Given the description of an element on the screen output the (x, y) to click on. 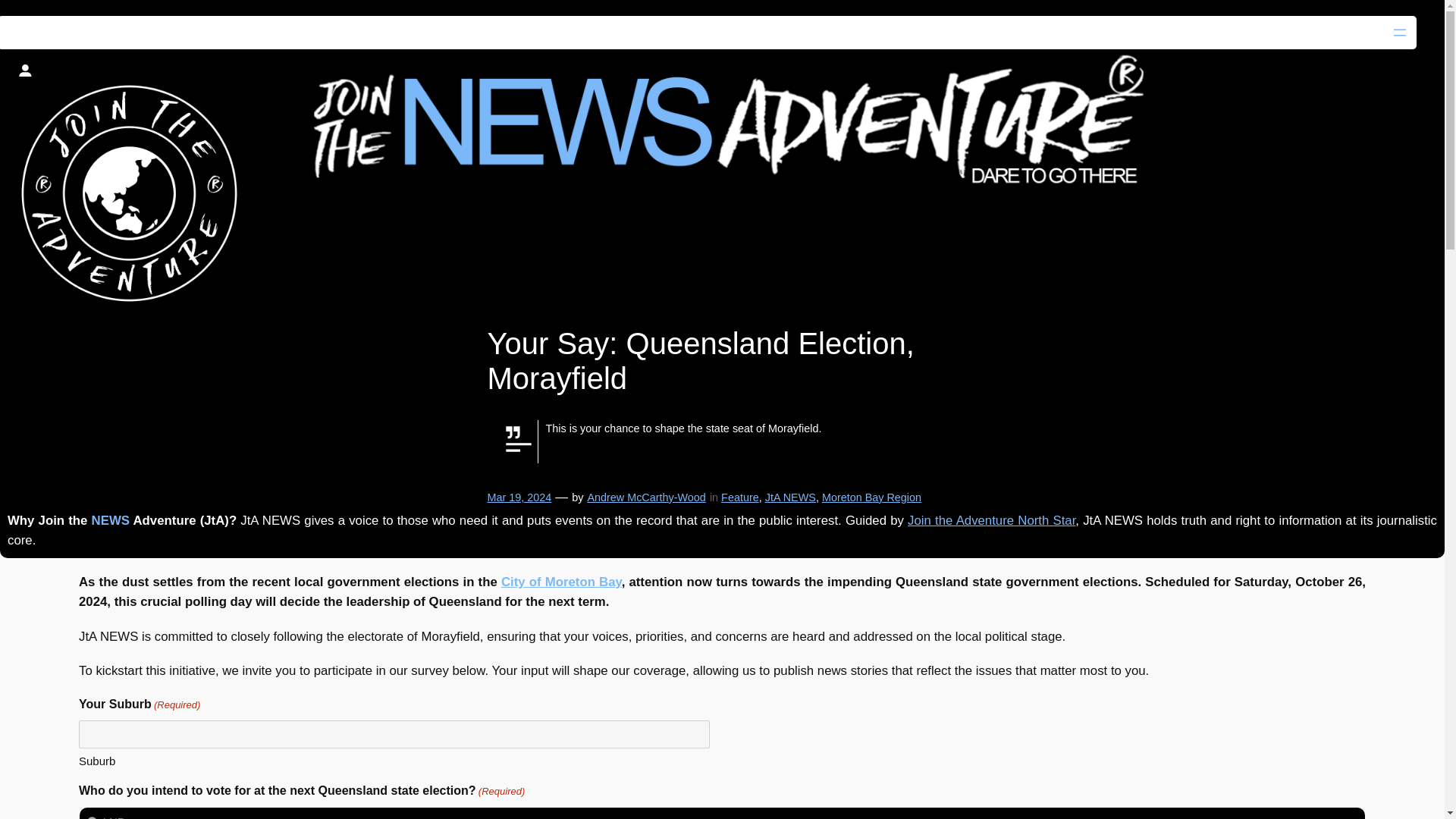
Andrew McCarthy-Wood (645, 497)
Moreton Bay Region (871, 497)
Mar 19, 2024 (518, 497)
TAKE ME ON MY ADVENTURE! (235, 17)
Feature (739, 497)
JtA NEWS (790, 497)
Join the Adventure North Star (991, 520)
BOOST (44, 17)
City of Moreton Bay (560, 581)
